Given the description of an element on the screen output the (x, y) to click on. 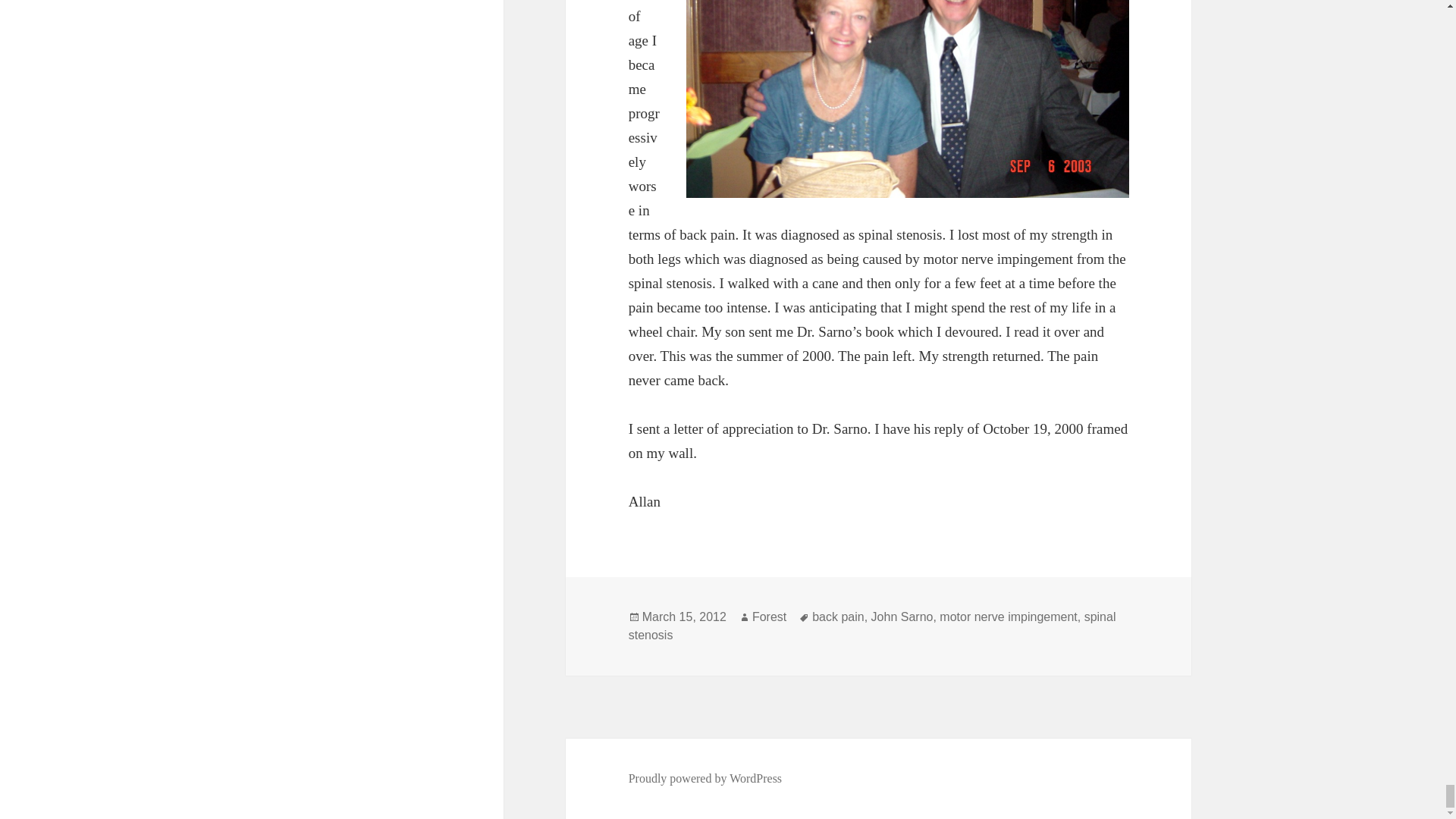
Allan (907, 99)
